Given the description of an element on the screen output the (x, y) to click on. 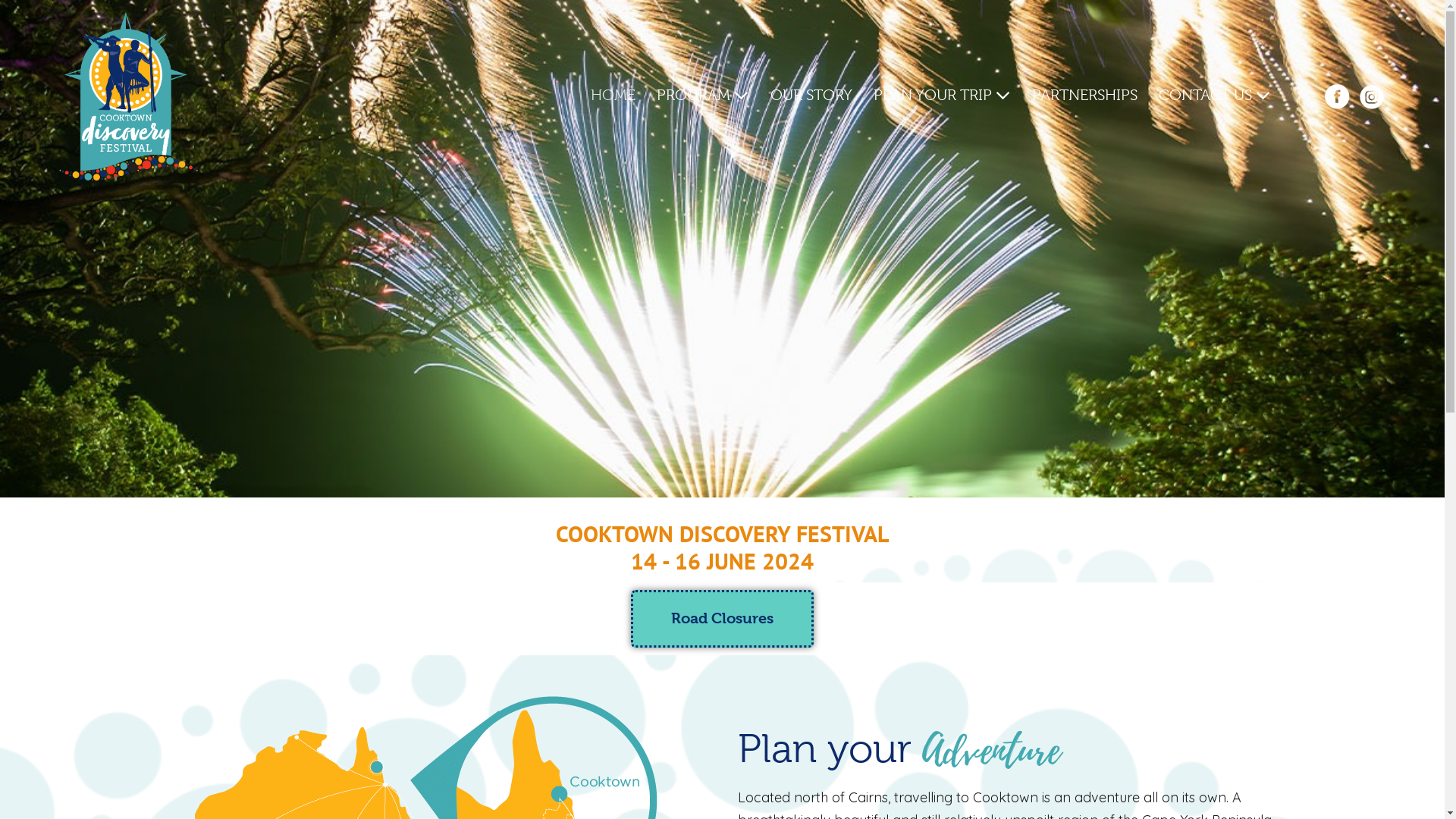
PARTNERSHIPS Element type: text (1084, 95)
HOME Element type: text (613, 95)
Road Closures Element type: text (721, 618)
OUR STORY Element type: text (810, 95)
PROGRAM Element type: text (702, 95)
Cooktown Discovery Festival  Element type: hover (127, 96)
PLAN YOUR TRIP Element type: text (941, 95)
CONTACT US Element type: text (1214, 95)
COOKTOWN DISCOVERY FESTIVAL
14 - 16 JUNE 2024 Element type: text (721, 546)
